Given the description of an element on the screen output the (x, y) to click on. 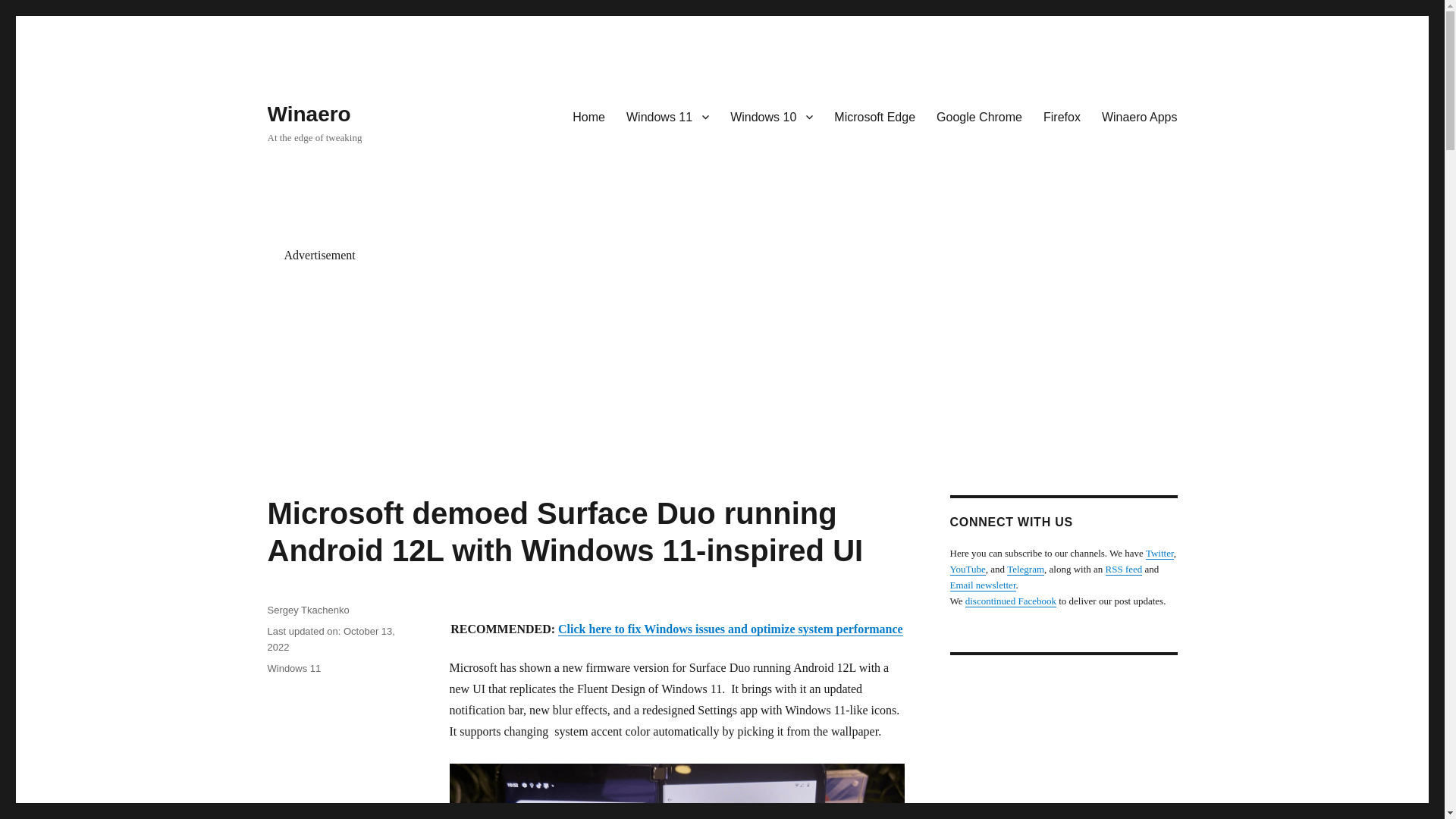
Windows 11 (667, 116)
Sergey Tkachenko (307, 609)
Winaero Apps (1139, 116)
Microsoft Edge (875, 116)
Subscribe with email (981, 584)
Firefox (1061, 116)
discontinued Facebook (1011, 600)
Join our Telegram channel (1025, 568)
Winaero on YouTube (967, 568)
Winaero (308, 114)
Email newsletter (981, 584)
Windows 10 (771, 116)
Google Chrome (979, 116)
RSS feed (1123, 568)
YouTube (967, 568)
